Given the description of an element on the screen output the (x, y) to click on. 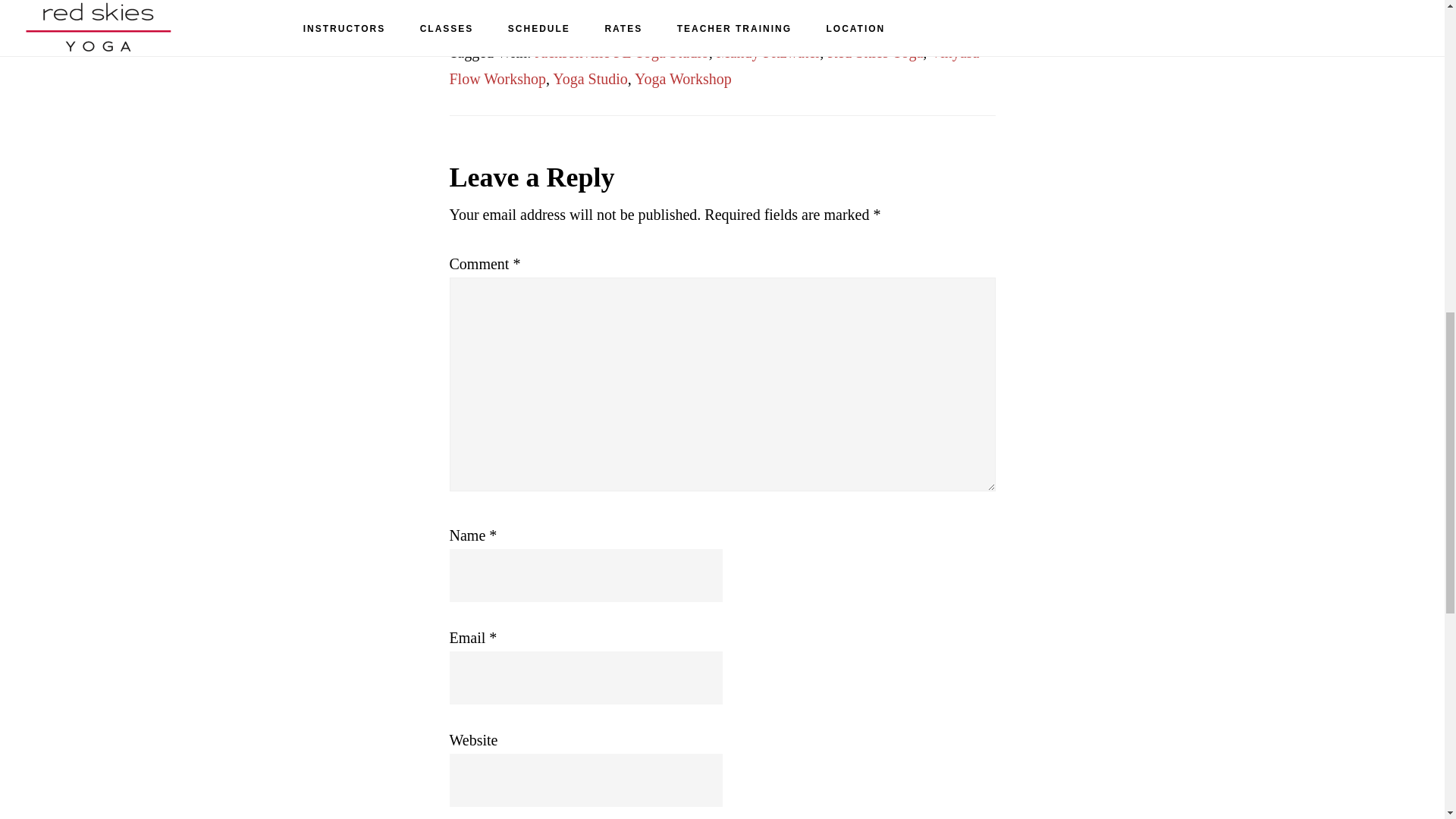
Jacksonville FL Yoga Studio (620, 52)
Yoga News (563, 25)
Yoga Workshops (658, 25)
